Given the description of an element on the screen output the (x, y) to click on. 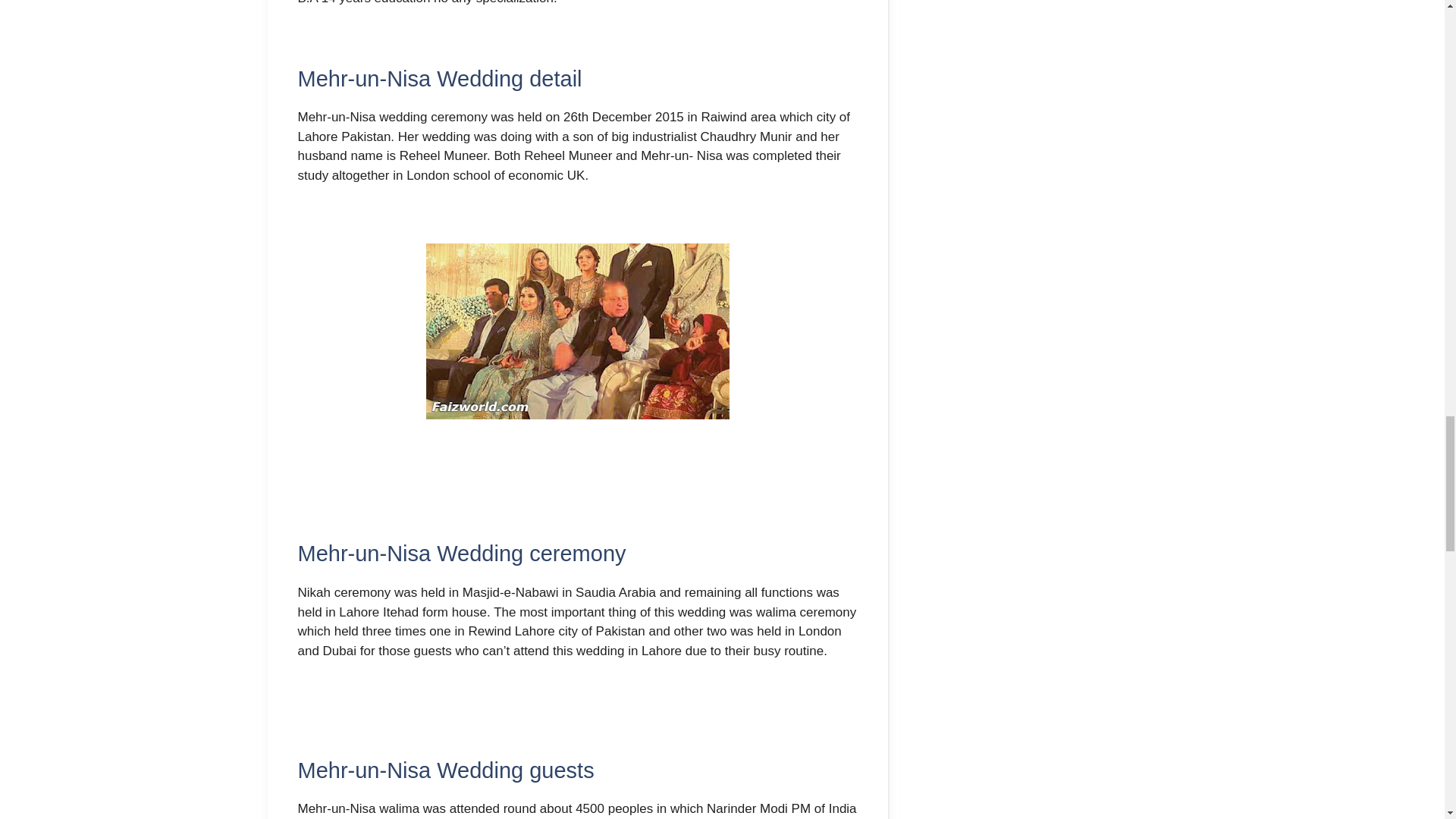
Mehr-un-nisa munir (577, 331)
